Given the description of an element on the screen output the (x, y) to click on. 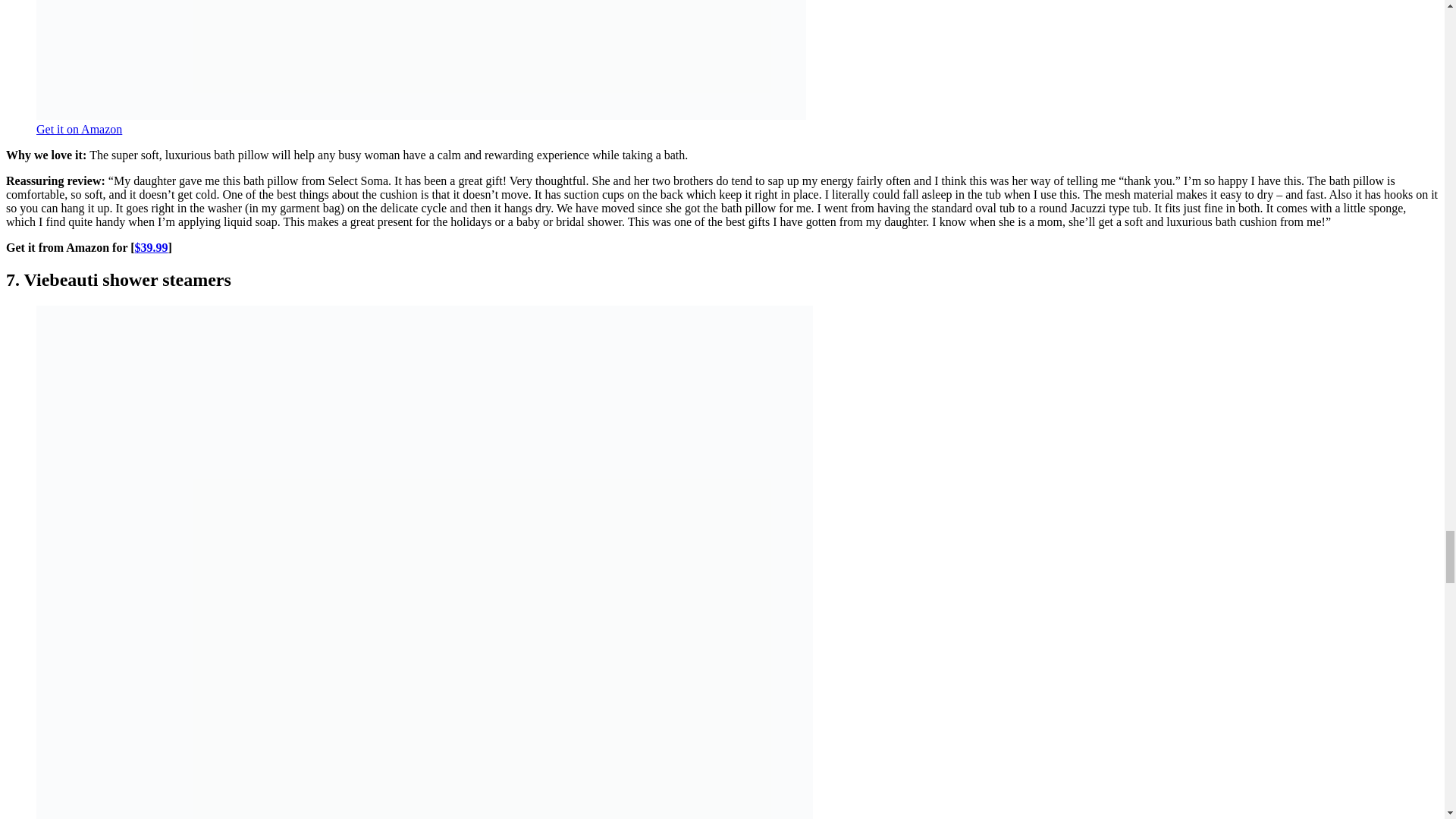
Get it on Amazon (79, 128)
